Given the description of an element on the screen output the (x, y) to click on. 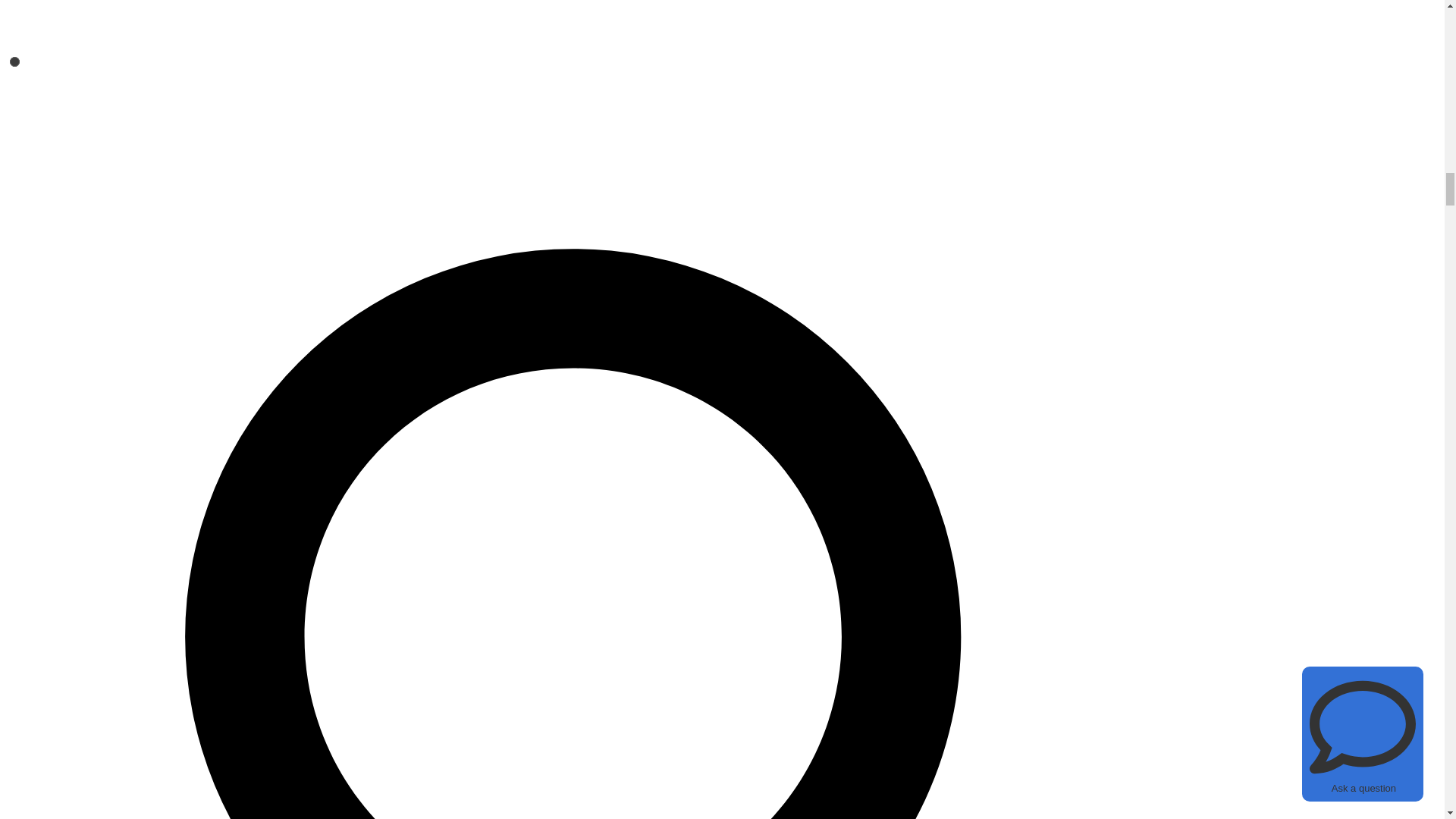
on (15, 61)
